Given the description of an element on the screen output the (x, y) to click on. 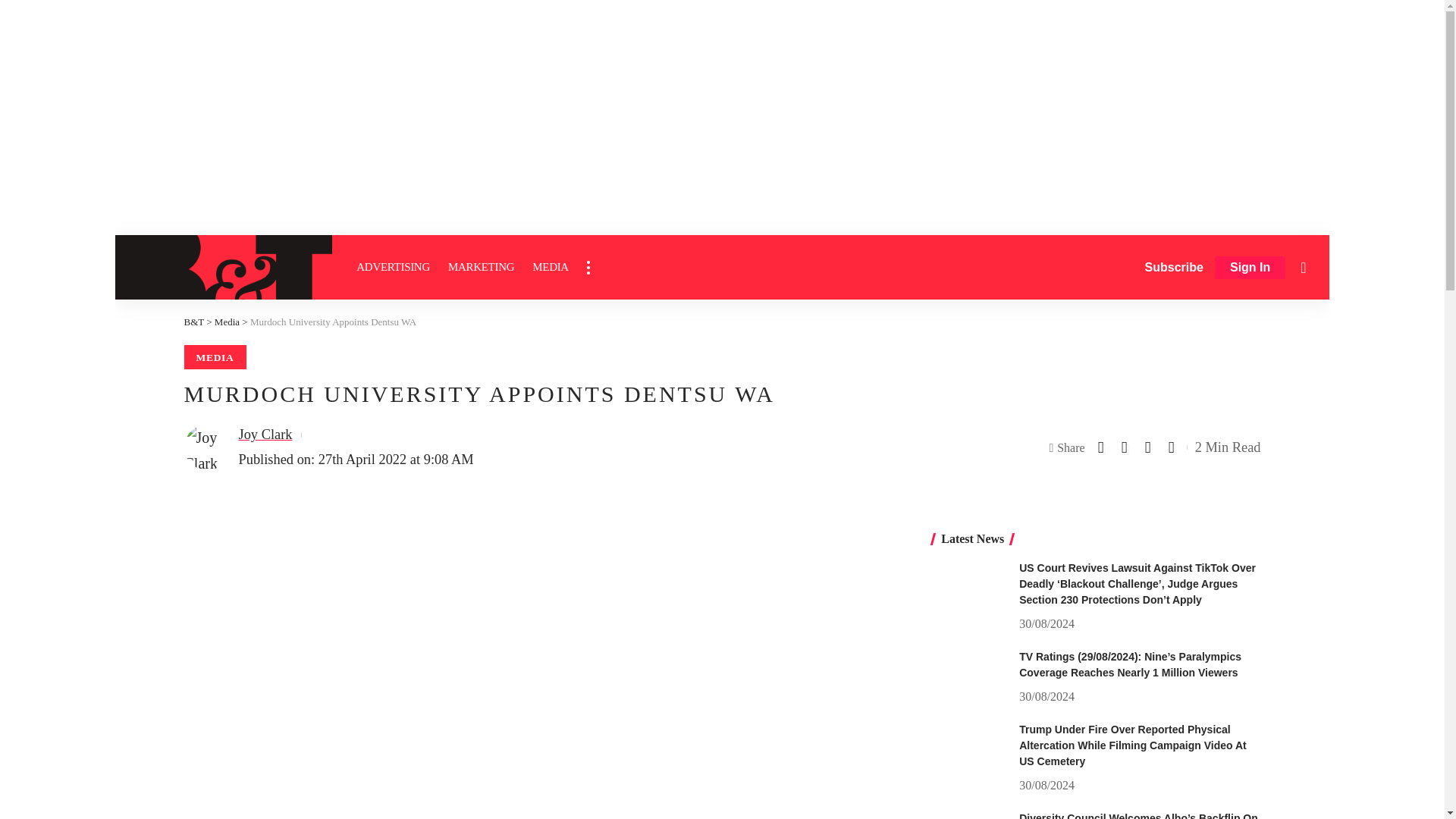
Subscribe (1174, 267)
ADVERTISING (393, 267)
Go to the Media Category archives. (227, 321)
MARKETING (480, 267)
Sign In (1249, 267)
